Given the description of an element on the screen output the (x, y) to click on. 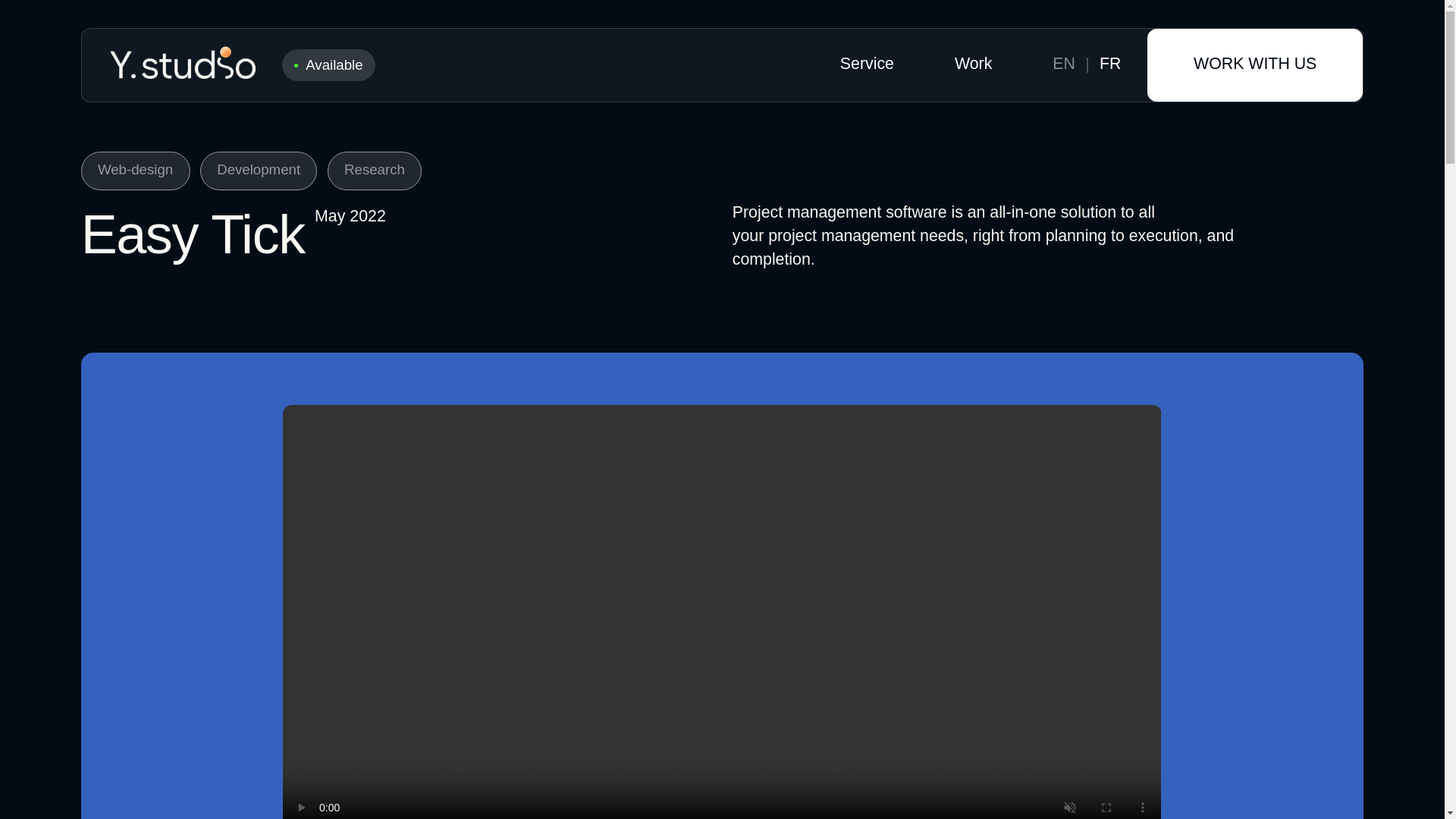
Work (973, 65)
WORK WITH US (1254, 64)
Service (866, 65)
